Given the description of an element on the screen output the (x, y) to click on. 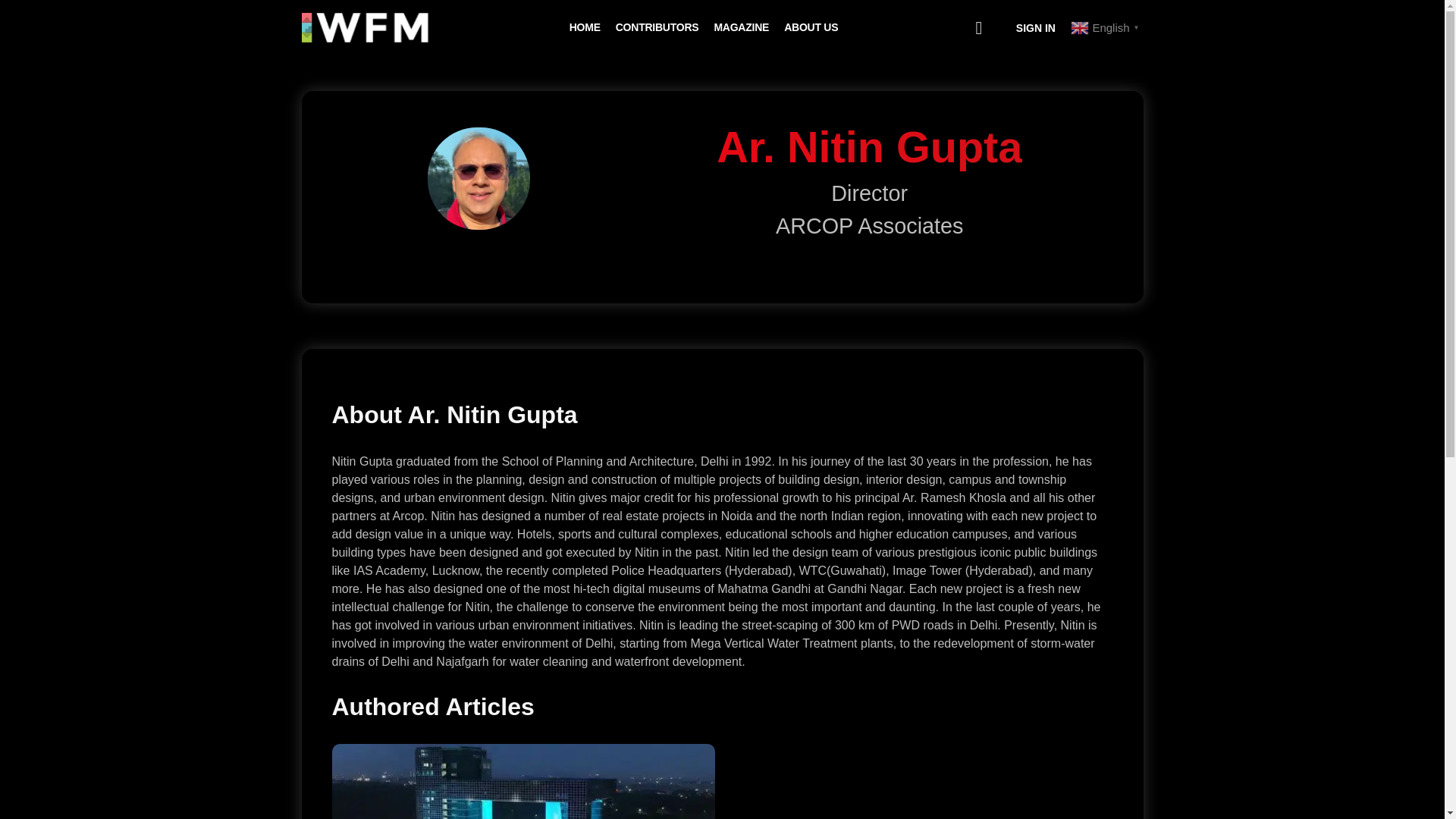
CONTRIBUTORS (656, 27)
ABOUT US (811, 27)
HOME (584, 27)
MAGAZINE (740, 27)
SIGN IN (1035, 27)
